Given the description of an element on the screen output the (x, y) to click on. 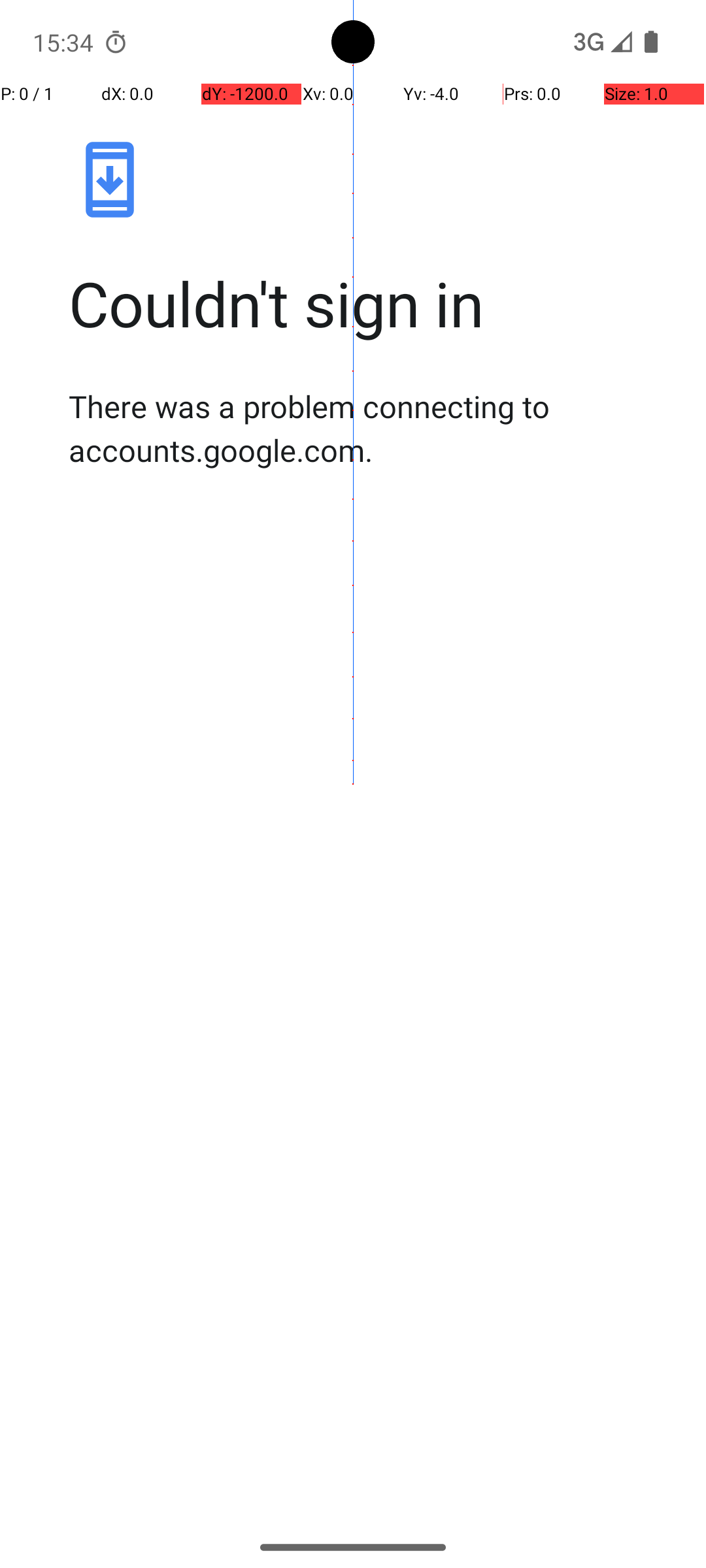
Couldn't sign in Element type: android.widget.TextView (366, 302)
There was a problem connecting to accounts.google.com. Element type: android.widget.TextView (366, 427)
